Given the description of an element on the screen output the (x, y) to click on. 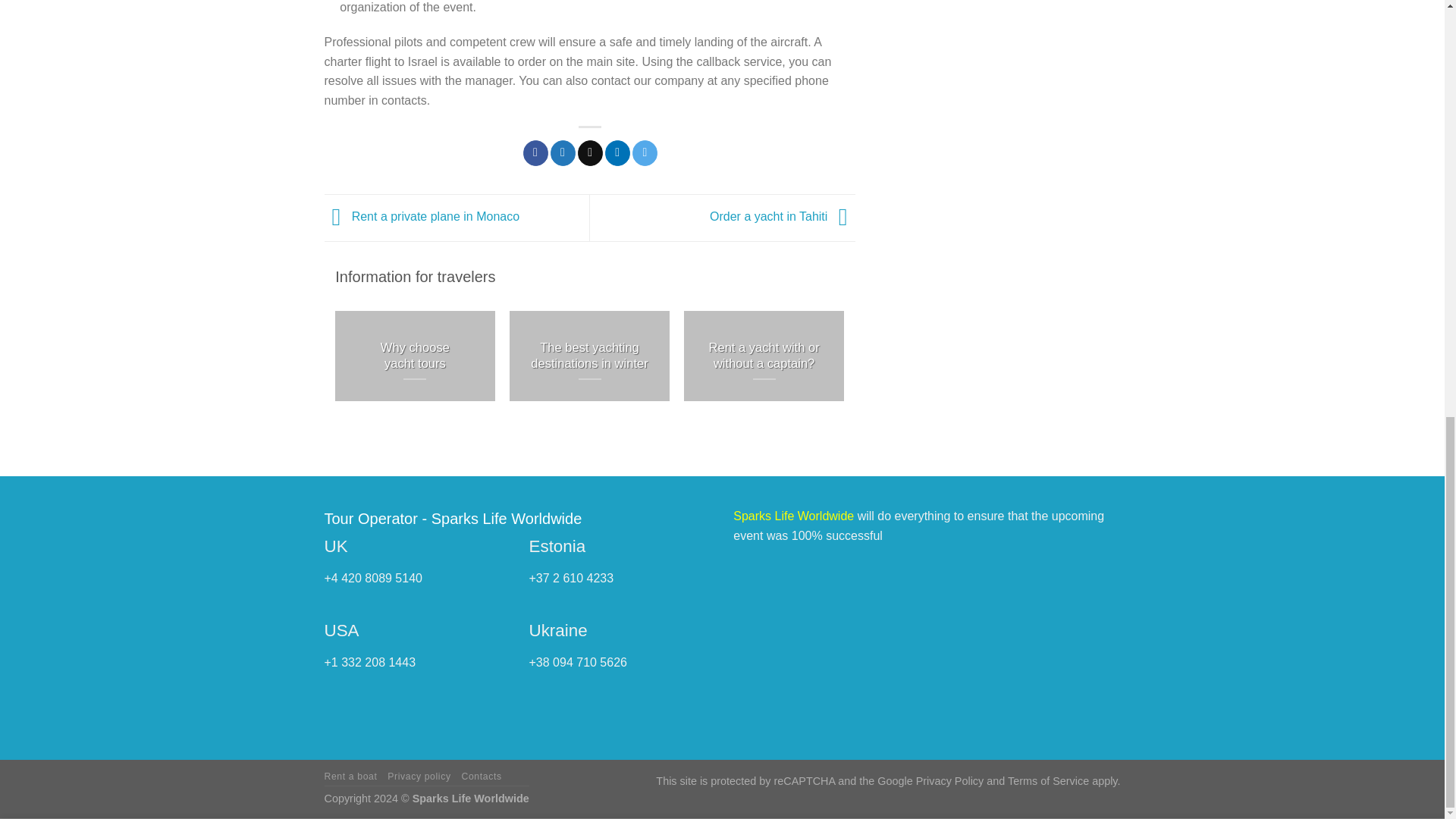
Why choose yacht tours - 2 - Sparks Life Worldwide (414, 355)
Share on LinkedIn (617, 153)
Share on Telegram (644, 153)
Email to a Friend (590, 153)
Share on Twitter (562, 153)
Share on Facebook (535, 153)
